Given the description of an element on the screen output the (x, y) to click on. 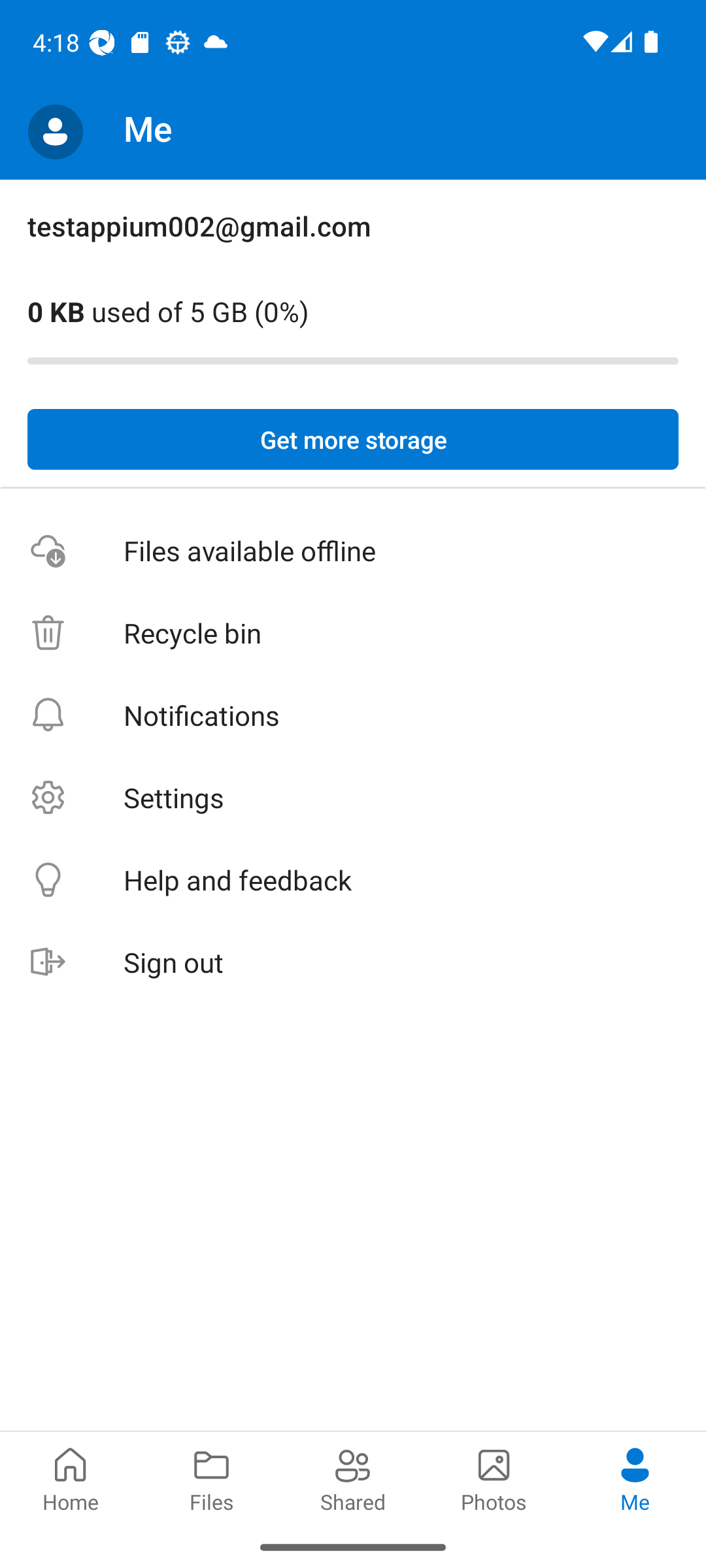
Account switcher (55, 131)
Get more storage (352, 439)
Files available offline (353, 550)
Recycle bin (353, 633)
Notifications (353, 714)
Settings (353, 796)
Help and feedback (353, 879)
Sign out (353, 962)
Home pivot Home (70, 1478)
Files pivot Files (211, 1478)
Shared pivot Shared (352, 1478)
Photos pivot Photos (493, 1478)
